Given the description of an element on the screen output the (x, y) to click on. 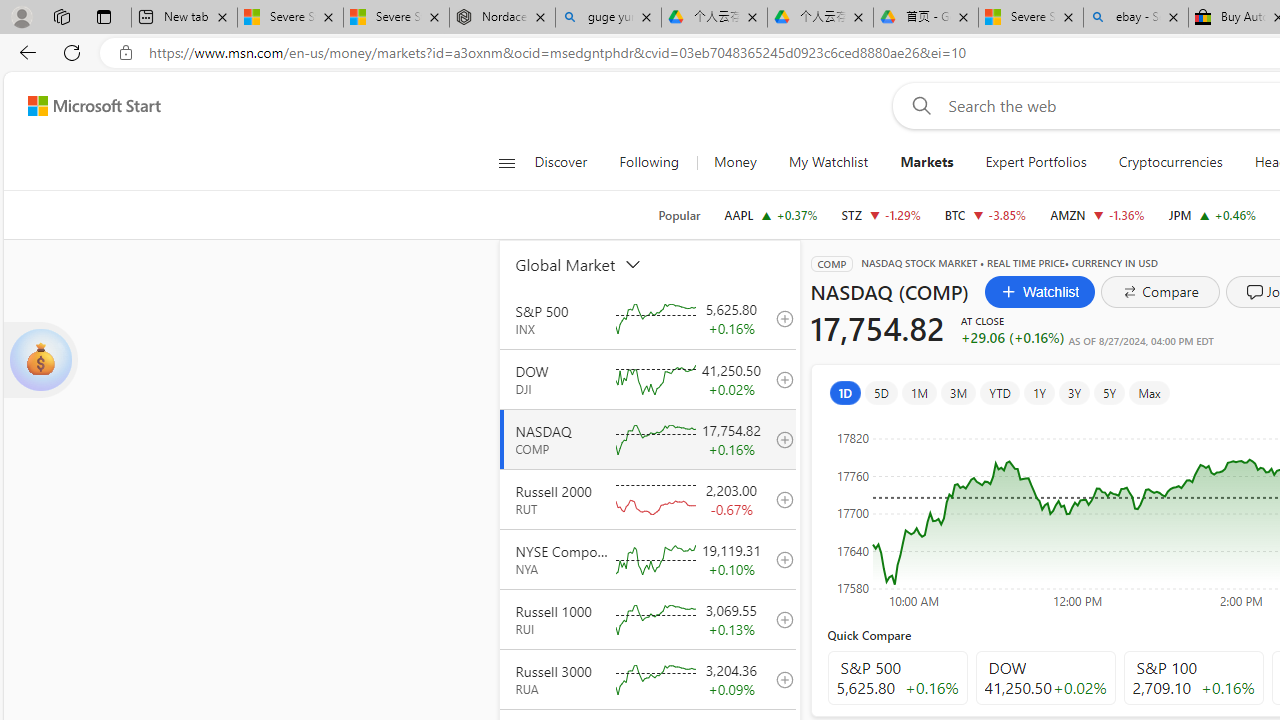
Markets (926, 162)
1D (845, 392)
